Given the description of an element on the screen output the (x, y) to click on. 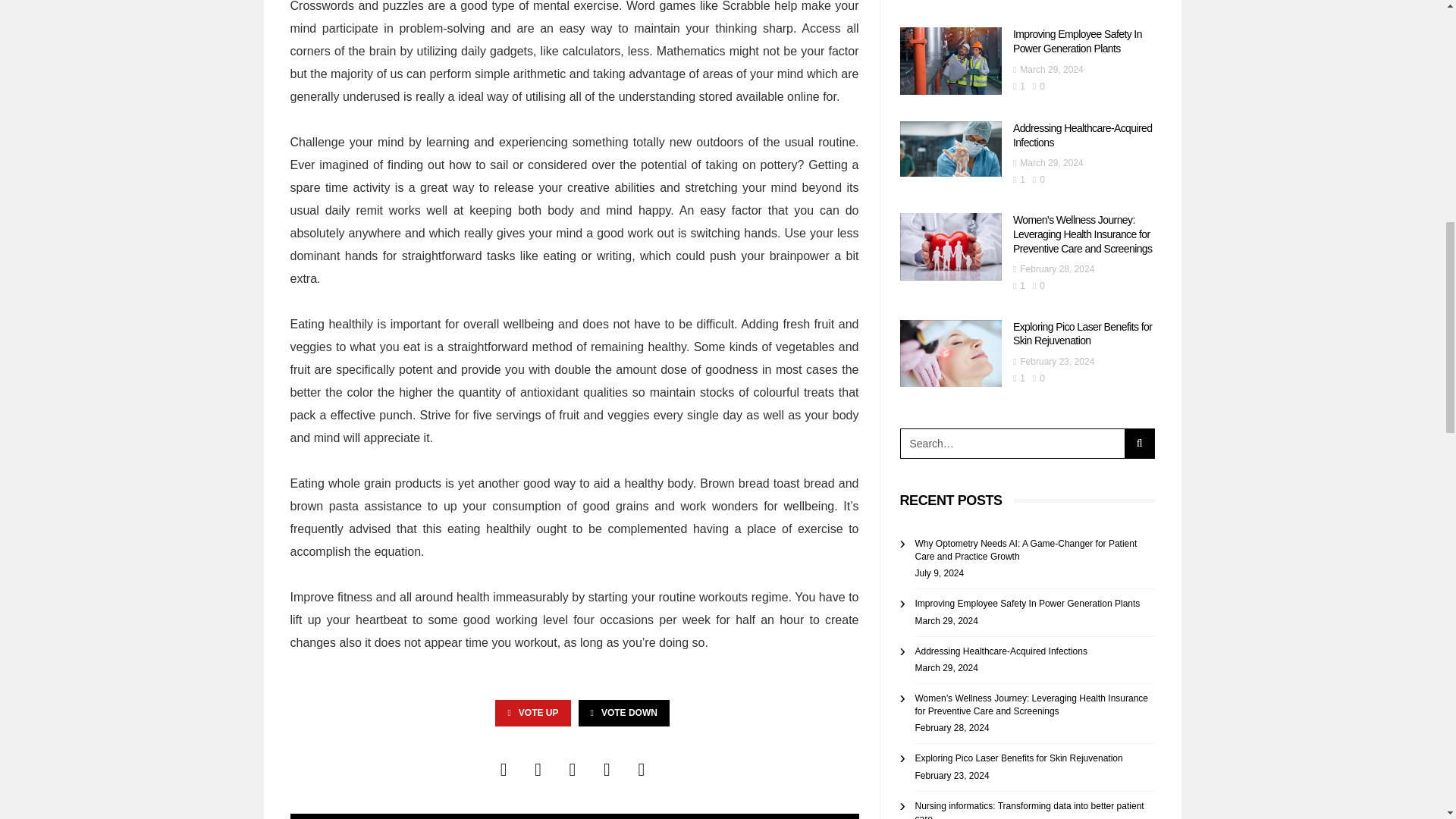
Addressing Healthcare-Acquired Infections (1083, 135)
VOTE DOWN (623, 713)
VOTE UP (532, 713)
Addressing Healthcare-Acquired Infections (950, 148)
Exploring Pico Laser Benefits for Skin Rejuvenation (950, 353)
Improving Employee Safety In Power Generation Plants (950, 61)
Exploring Pico Laser Benefits for Skin Rejuvenation (1082, 334)
Improving Employee Safety In Power Generation Plants (1077, 40)
Search for: (1011, 443)
